Given the description of an element on the screen output the (x, y) to click on. 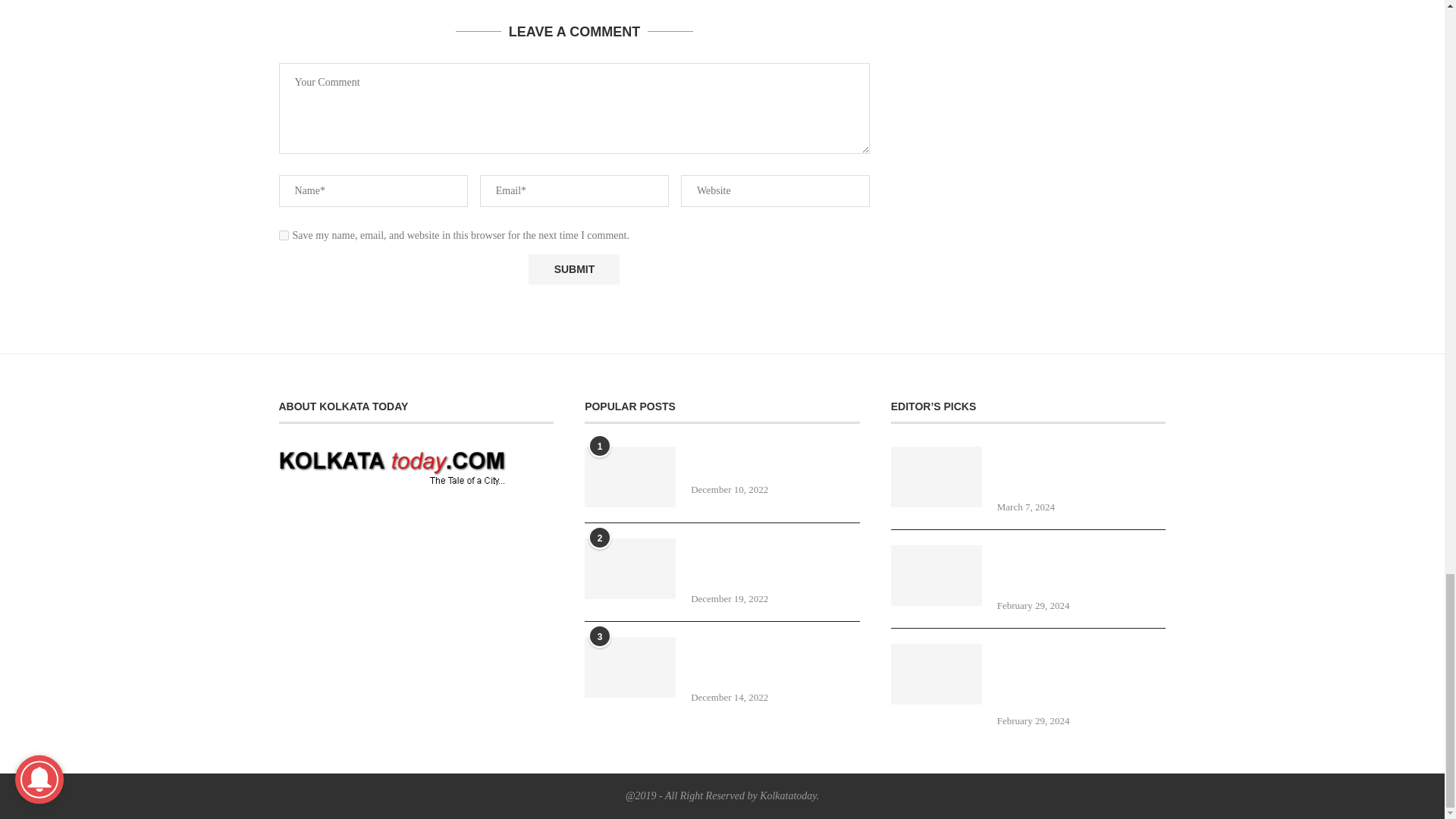
Submit (574, 268)
yes (283, 235)
